Given the description of an element on the screen output the (x, y) to click on. 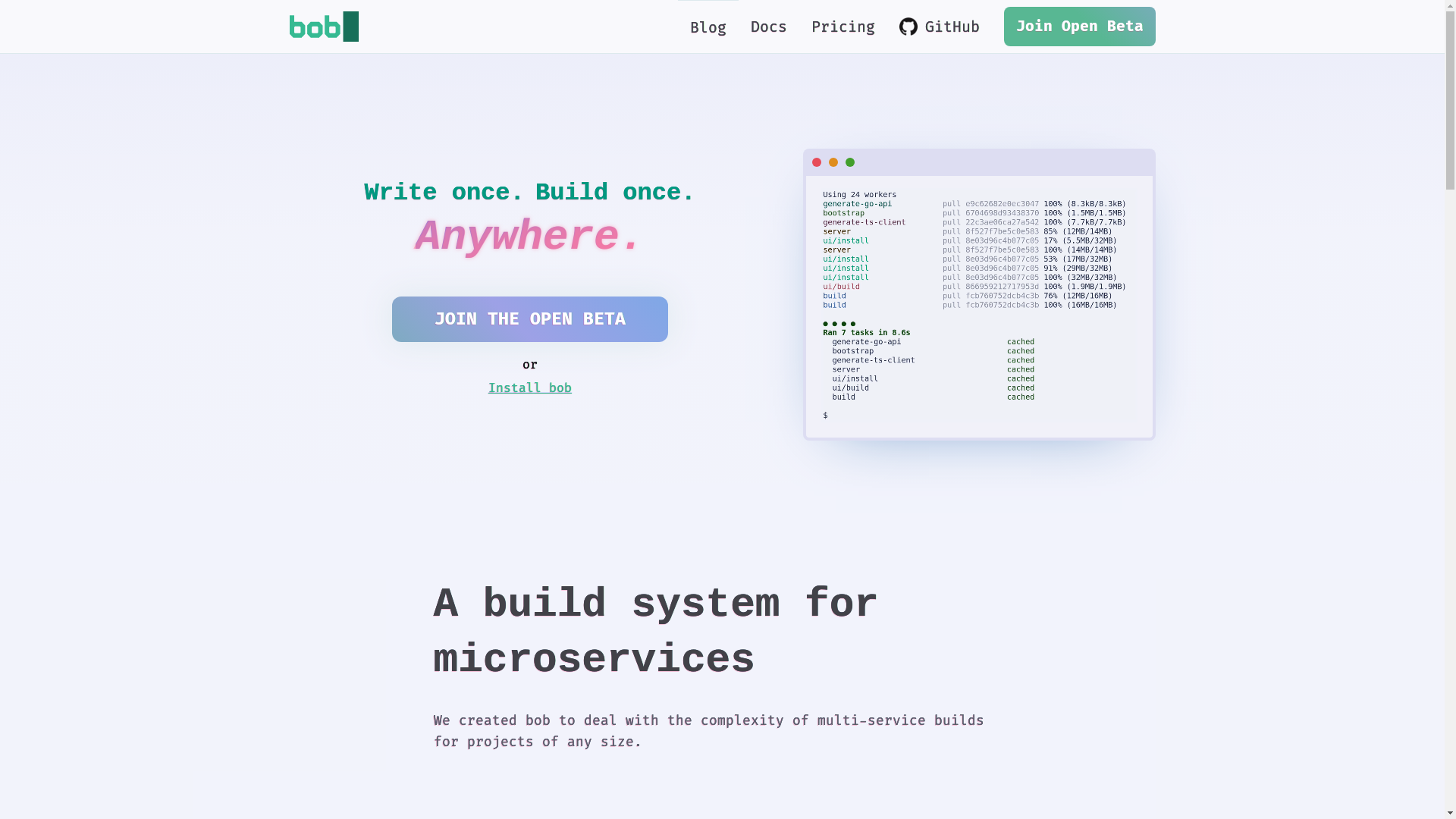
Join Open Beta Element type: text (1079, 26)
JOIN THE OPEN BETA Element type: text (530, 319)
Install bob Element type: text (529, 388)
Blog Element type: text (707, 27)
GitHub Element type: text (939, 27)
Pricing Element type: text (843, 27)
Docs Element type: text (768, 27)
